Given the description of an element on the screen output the (x, y) to click on. 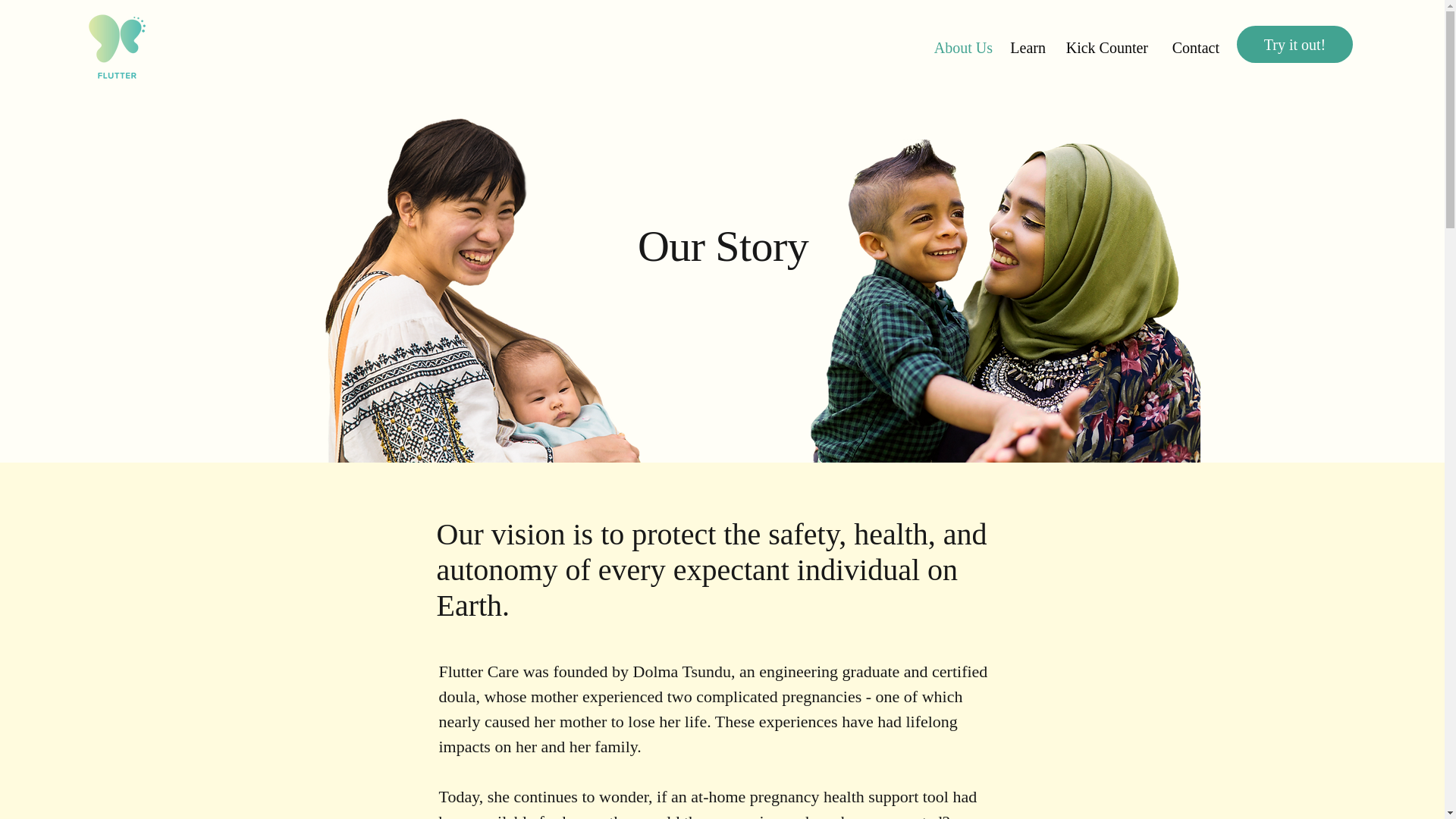
Kick Counter (1104, 47)
About Us (960, 47)
Try it out! (1294, 44)
Learn (1026, 47)
Contact (1191, 47)
